Given the description of an element on the screen output the (x, y) to click on. 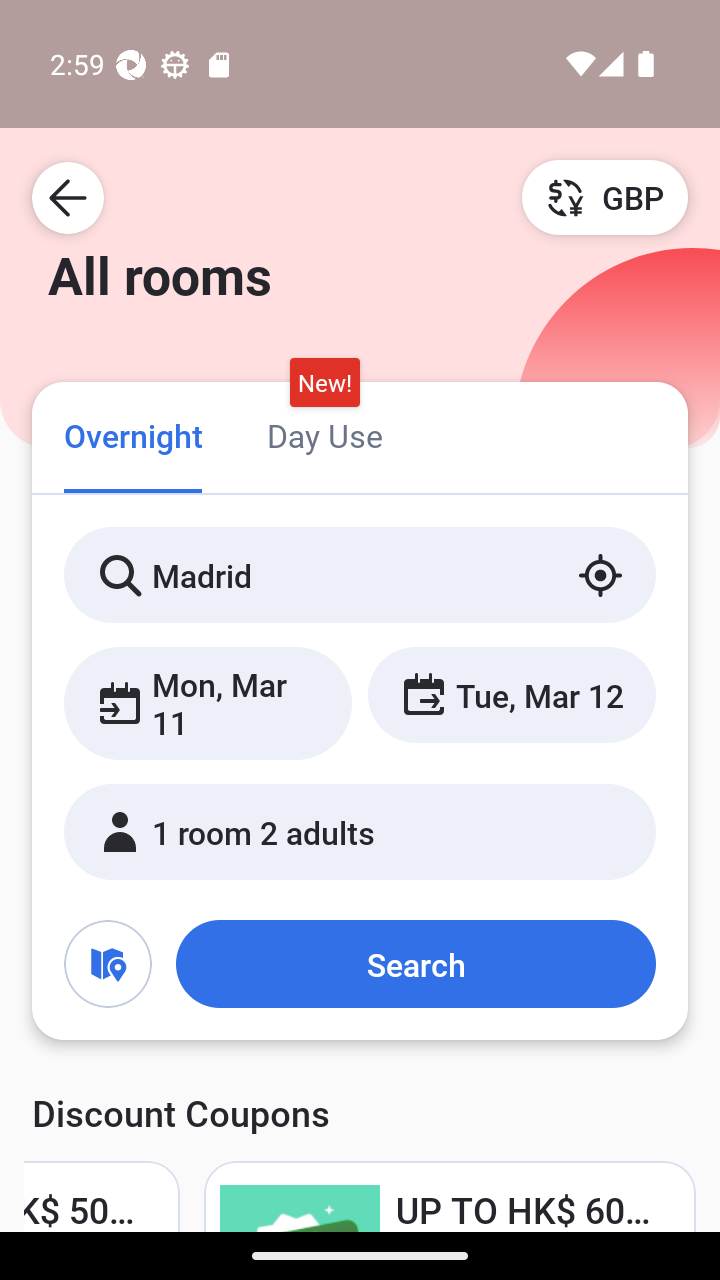
GBP (605, 197)
New! (324, 383)
Day Use (324, 434)
Madrid (359, 575)
Mon, Mar 11 (208, 703)
Tue, Mar 12 (511, 694)
1 room 2 adults (359, 831)
Search (415, 964)
